Given the description of an element on the screen output the (x, y) to click on. 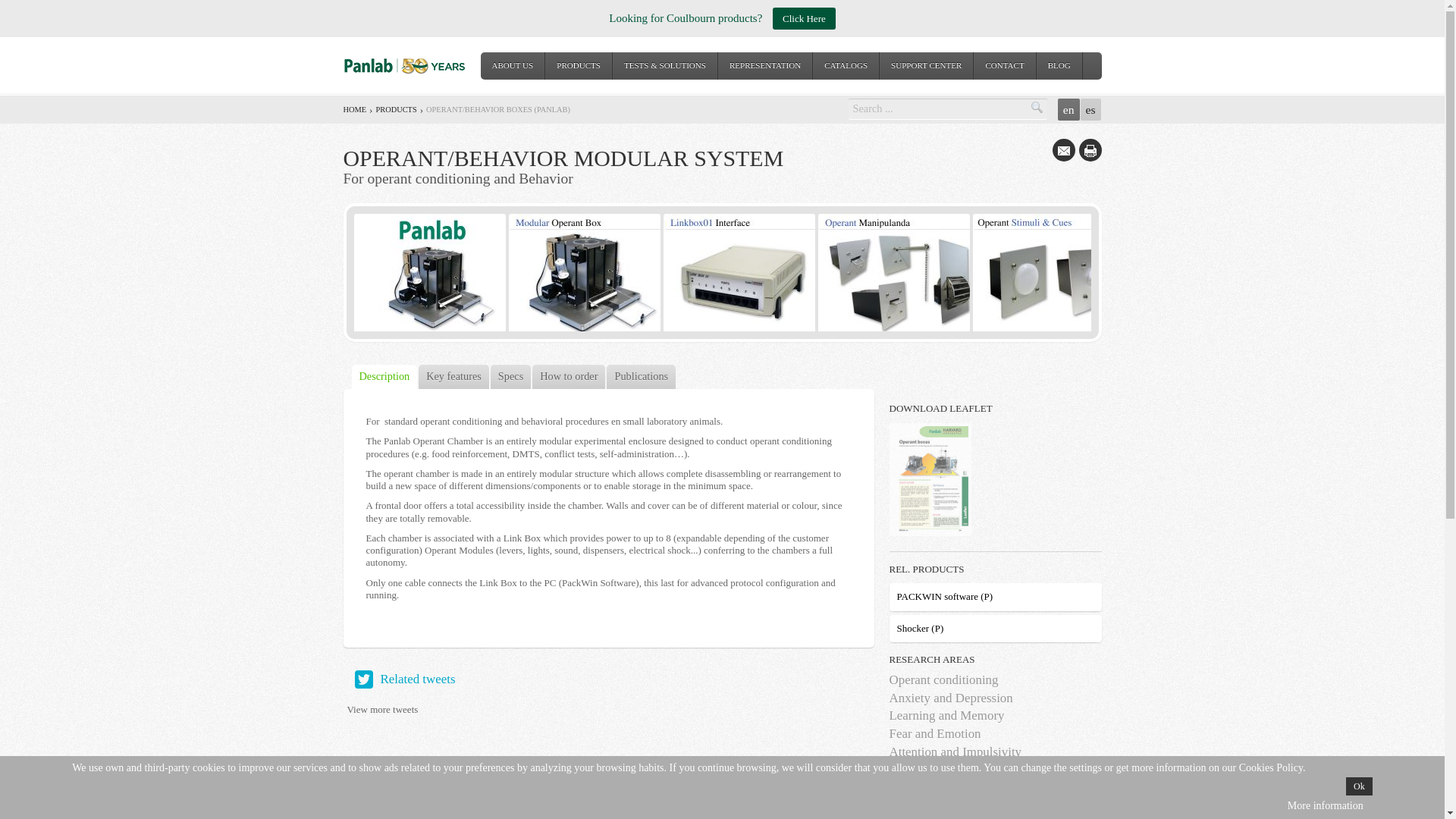
ABOUT US (512, 65)
Click to enlarge image 05 Operant Cues and Stimuli.jpg (1048, 273)
PRODUCTS (395, 109)
SUPPORT CENTER (925, 65)
Click Here (804, 18)
BLOG (1058, 65)
Search (1036, 107)
HOME (354, 109)
REPRESENTATION (764, 65)
en (1069, 109)
